Given the description of an element on the screen output the (x, y) to click on. 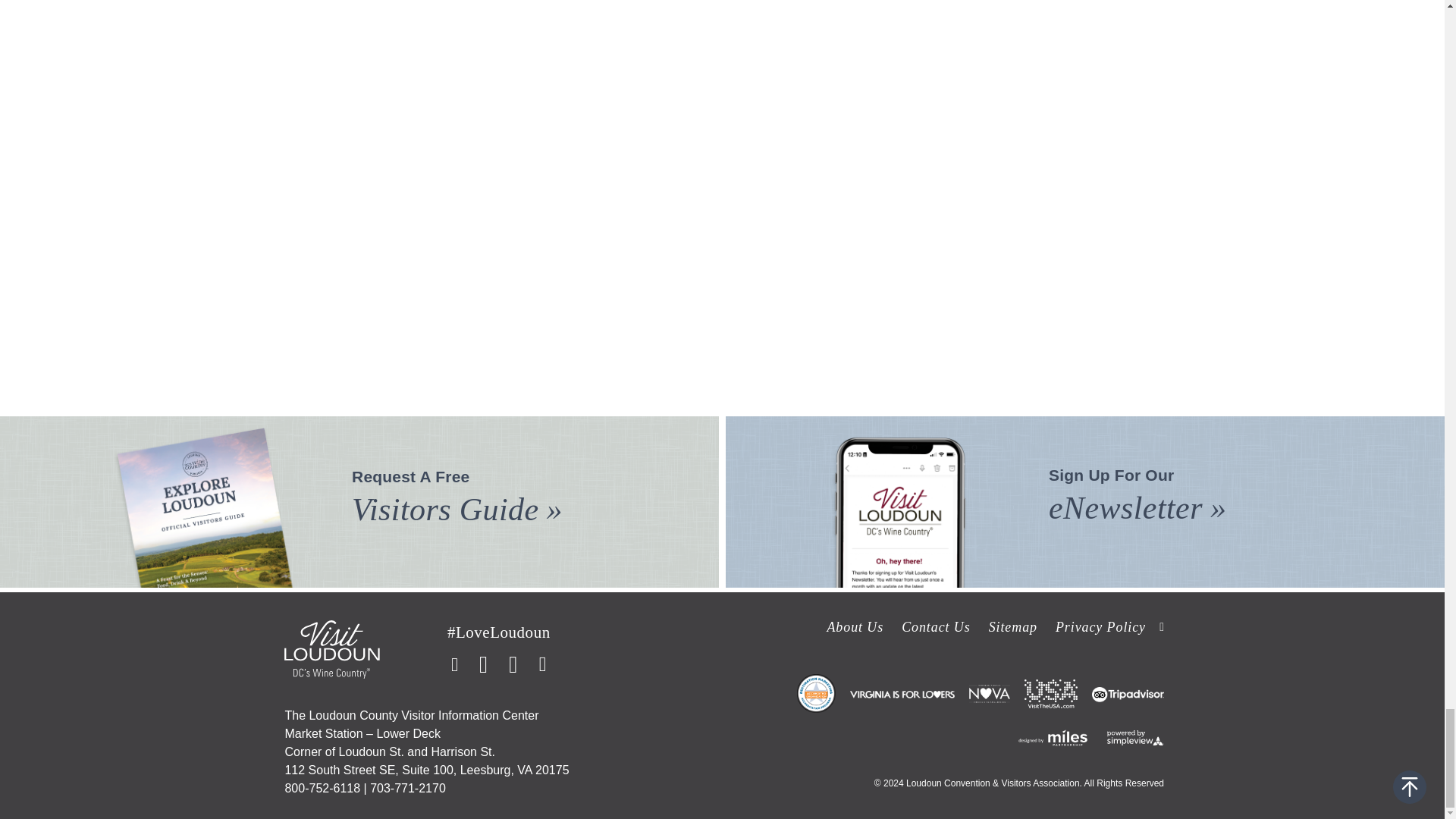
About Us (855, 626)
Contact Us (936, 626)
